Given the description of an element on the screen output the (x, y) to click on. 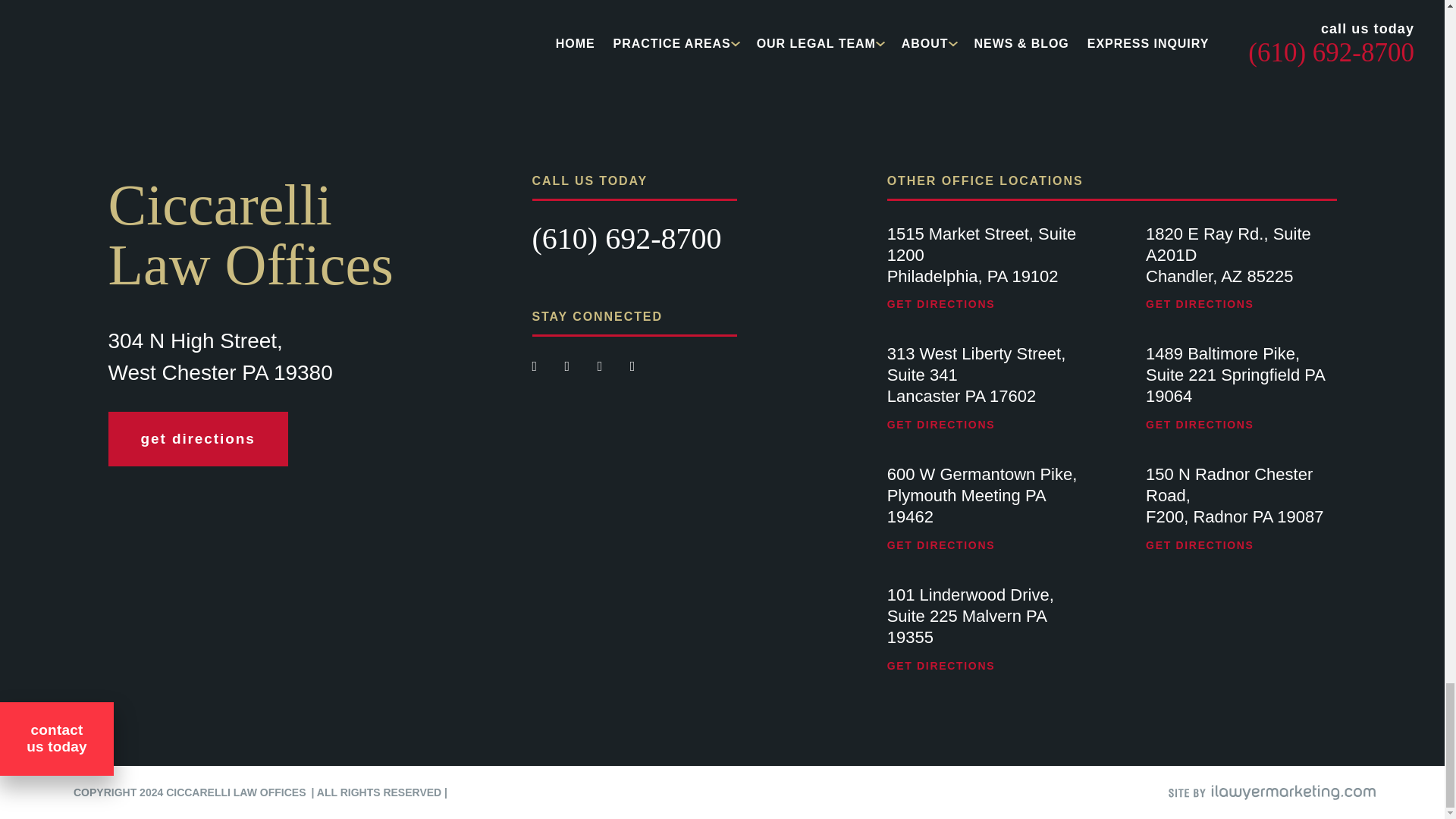
Youtube (601, 365)
Call Toll Free (627, 238)
Linkedin (632, 365)
Facebook (536, 365)
Twitter (568, 365)
